Given the description of an element on the screen output the (x, y) to click on. 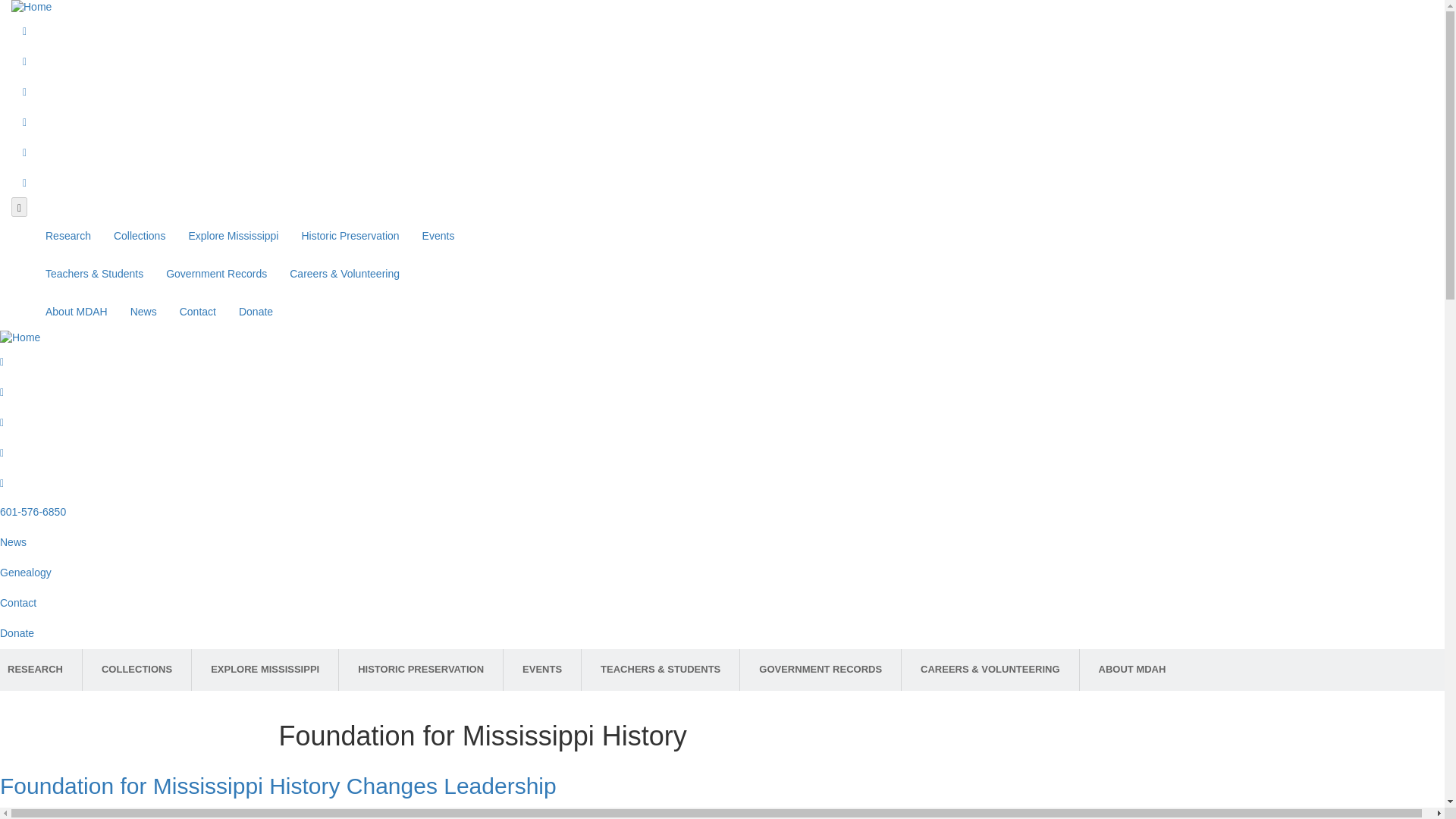
Research (67, 235)
Home (30, 6)
Government Records (216, 273)
Events (437, 235)
Historic Preservation (349, 235)
Collections (138, 235)
Donate (255, 311)
About MDAH (76, 311)
RESEARCH (40, 670)
News (143, 311)
Home (20, 337)
Contact (197, 311)
Explore Mississippi (232, 235)
